Given the description of an element on the screen output the (x, y) to click on. 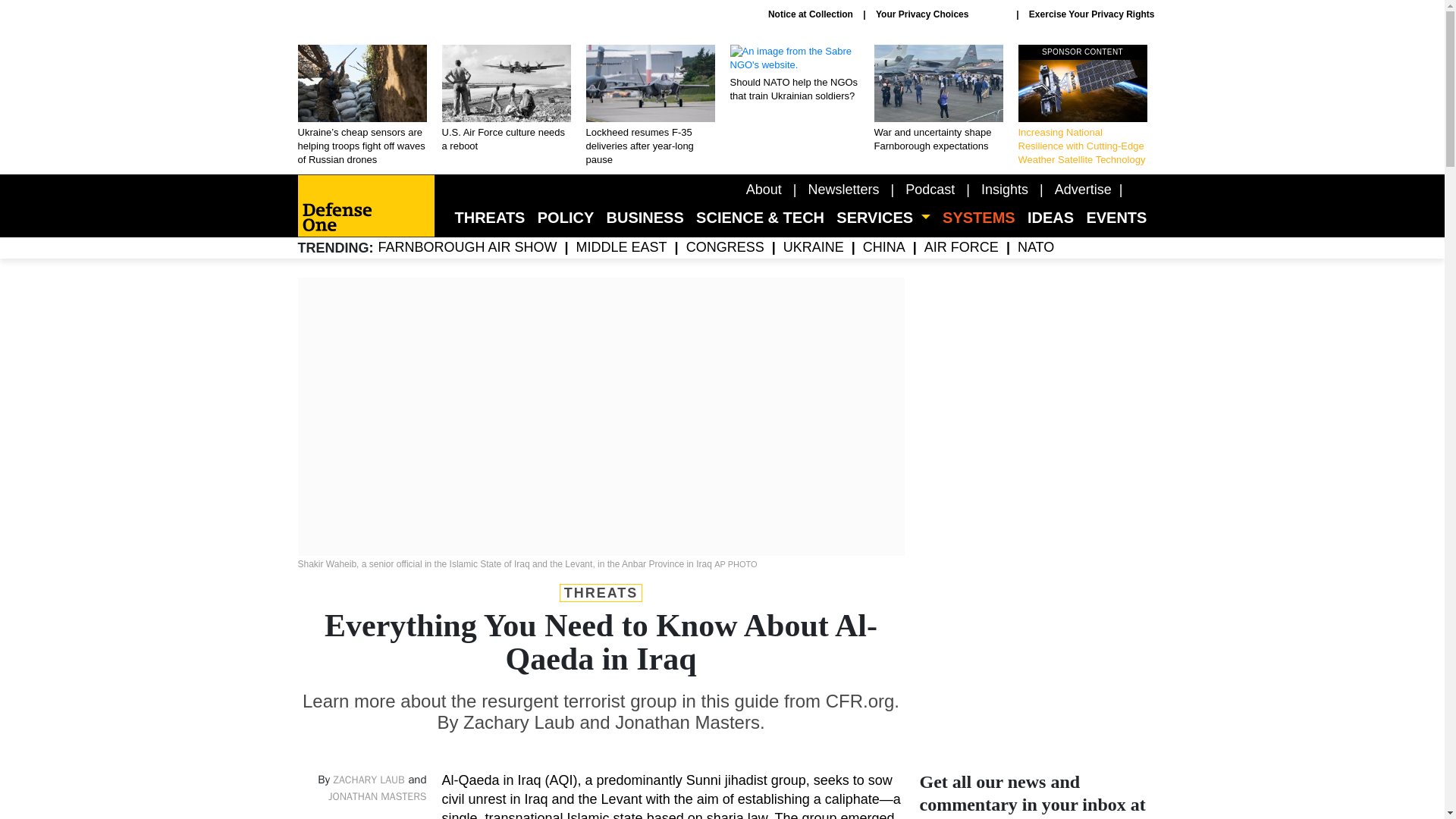
Newsletters (843, 189)
Podcast (930, 189)
Insights (1004, 189)
Your Privacy Choices (941, 14)
Advertise (1083, 189)
Notice at Collection (810, 14)
U.S. Air Force culture needs a reboot (505, 99)
Exercise Your Privacy Rights (1091, 14)
Lockheed resumes F-35 deliveries after year-long pause (649, 106)
Should NATO help the NGOs that train Ukrainian soldiers? (794, 74)
War and uncertainty shape Farnborough expectations (938, 99)
About (763, 189)
